Given the description of an element on the screen output the (x, y) to click on. 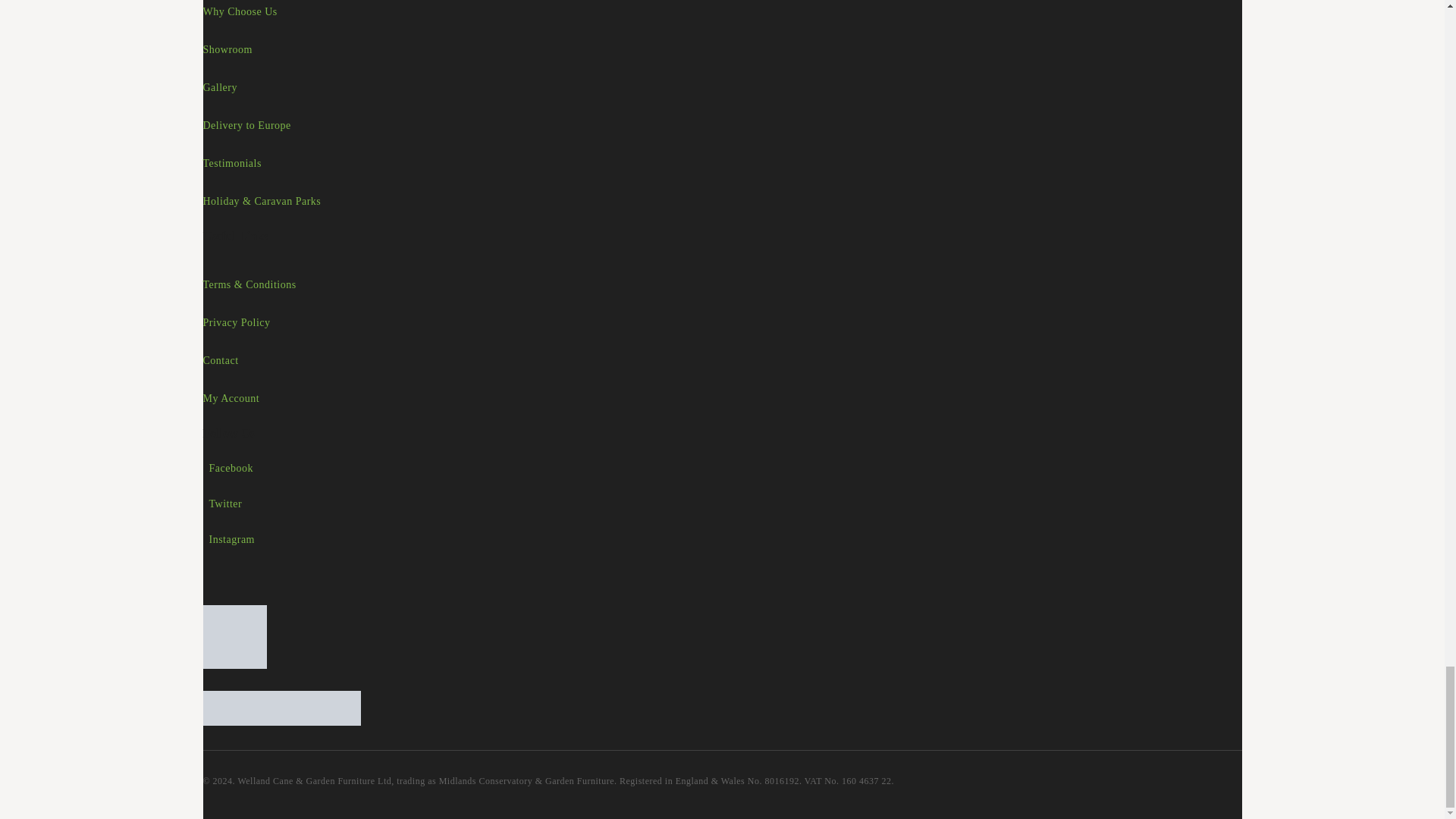
secure-seal (234, 637)
payment-options (282, 708)
